Given the description of an element on the screen output the (x, y) to click on. 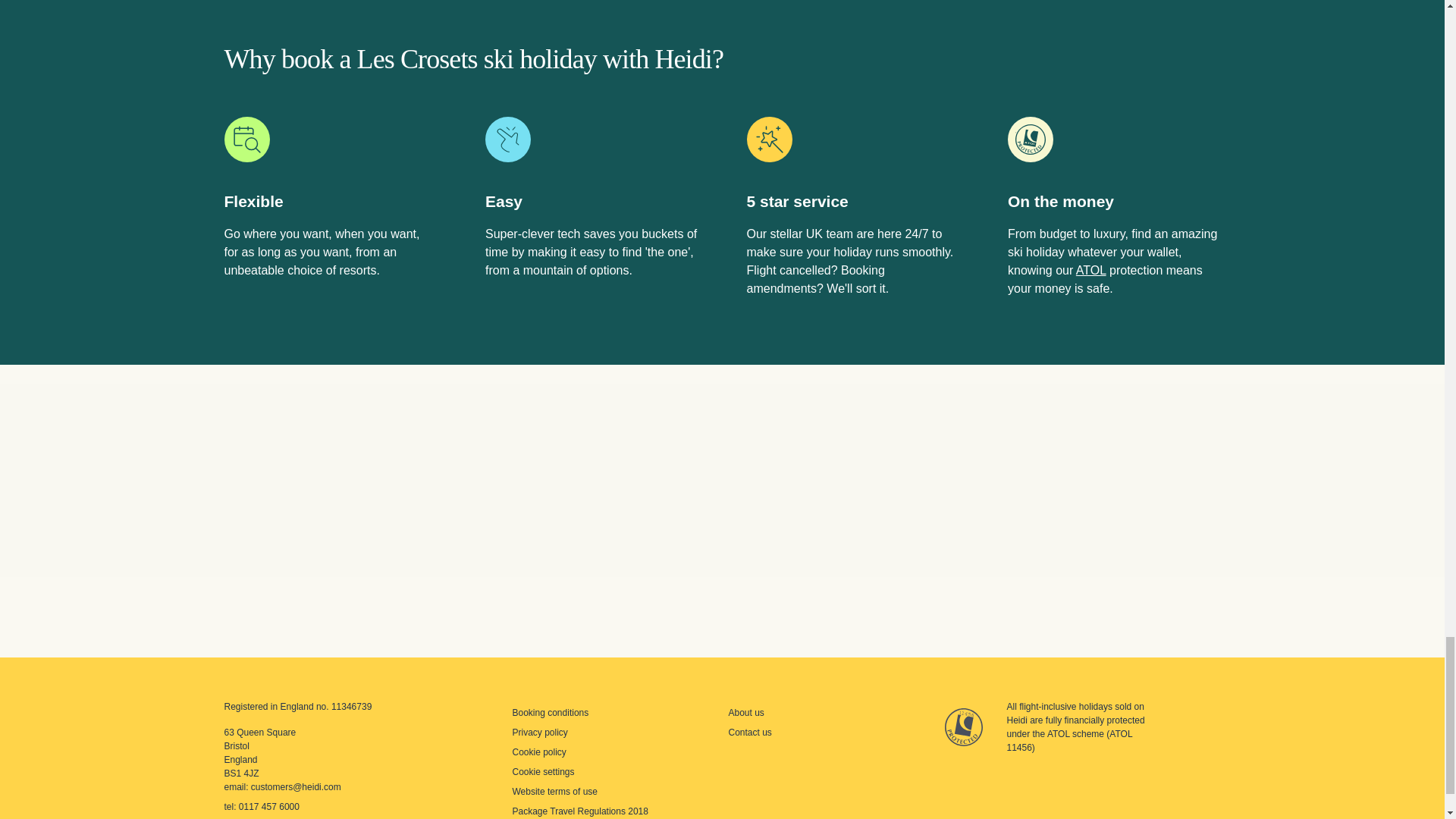
tel: 0117 457 6000 (261, 807)
Customer reviews powered by Trustpilot (722, 510)
ATOL (1090, 269)
